Given the description of an element on the screen output the (x, y) to click on. 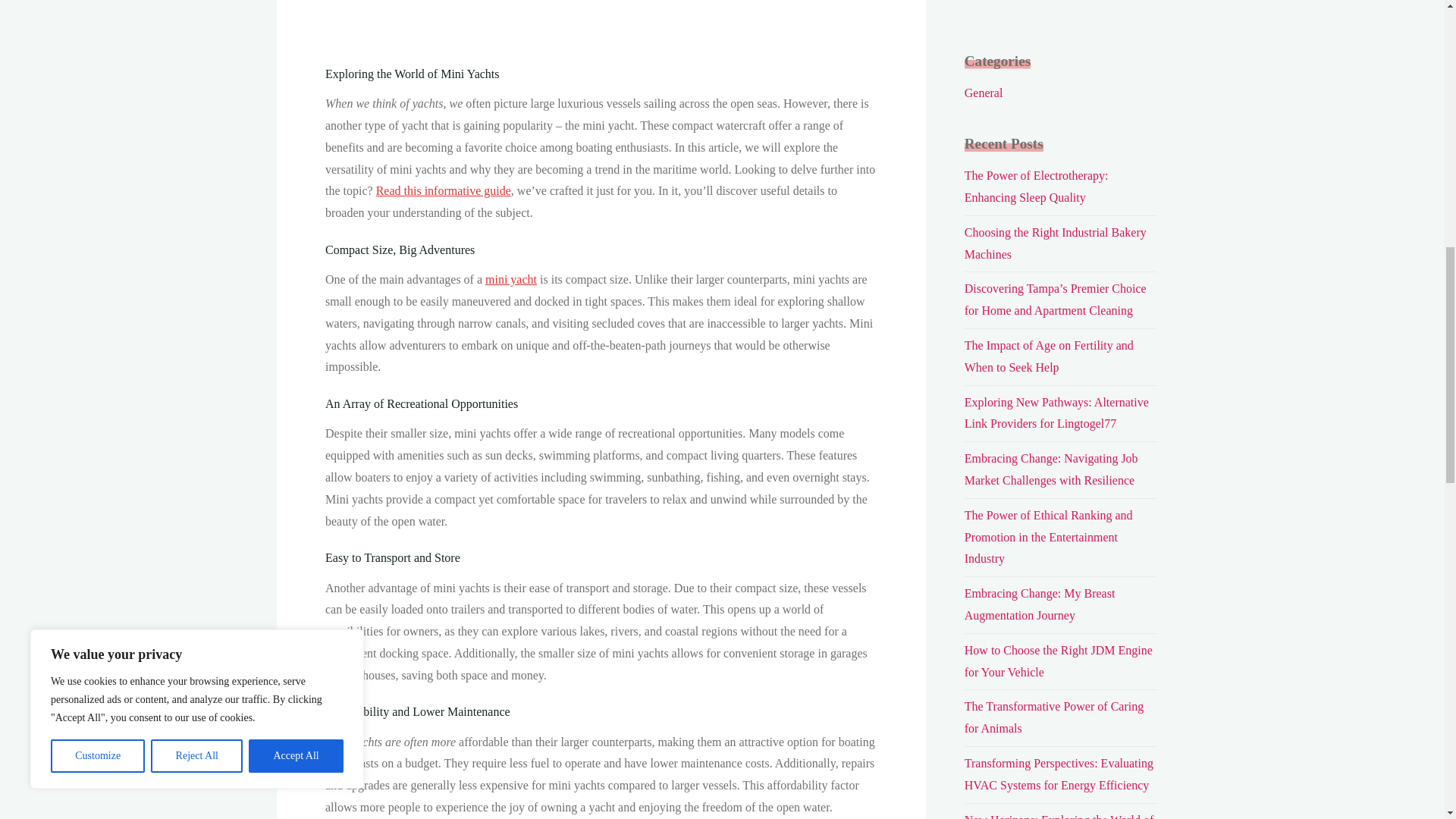
Read this informative guide (443, 190)
mini yacht (510, 278)
General (983, 92)
The Power of Electrotherapy: Enhancing Sleep Quality (1035, 185)
Choosing the Right Industrial Bakery Machines (1055, 243)
